Given the description of an element on the screen output the (x, y) to click on. 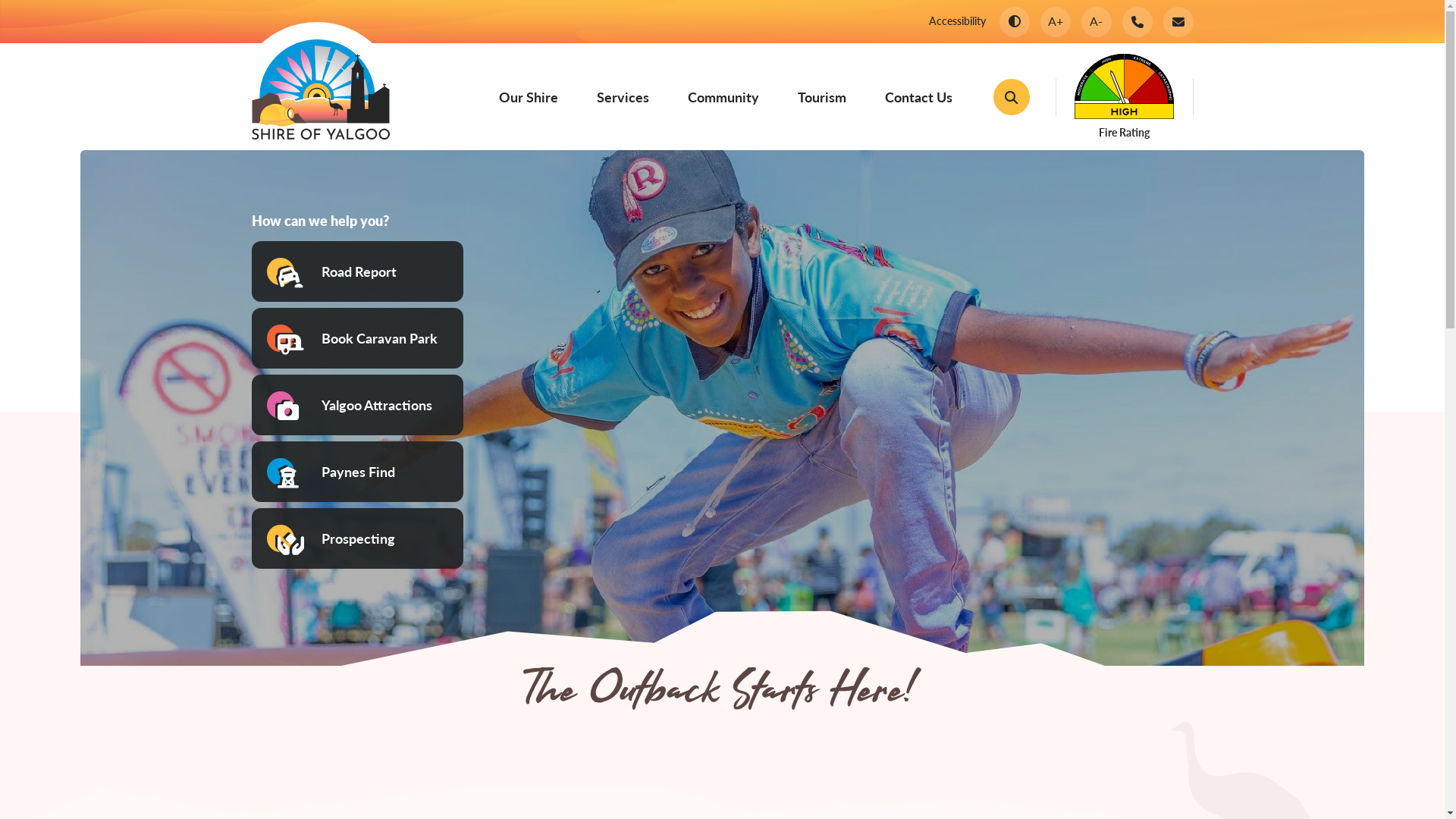
Phone the Shire of Yalgoo Element type: text (1137, 21)
Book Caravan Park Element type: text (357, 337)
A- Element type: text (1096, 21)
Email the Shire of Yalgoo Element type: text (1178, 21)
Tourism Element type: text (821, 96)
Yalgoo Attractions Element type: text (357, 404)
Community Element type: text (722, 96)
Toggle the Wesbite Search Element type: text (1011, 96)
Our Shire Element type: text (528, 96)
Services Element type: text (622, 96)
Paynes Find Element type: text (357, 471)
Change Colour Contrast Element type: text (1014, 21)
A+ Element type: text (1055, 21)
Contact Us Element type: text (917, 96)
Prospecting Element type: text (357, 538)
Road Report Element type: text (357, 271)
